Given the description of an element on the screen output the (x, y) to click on. 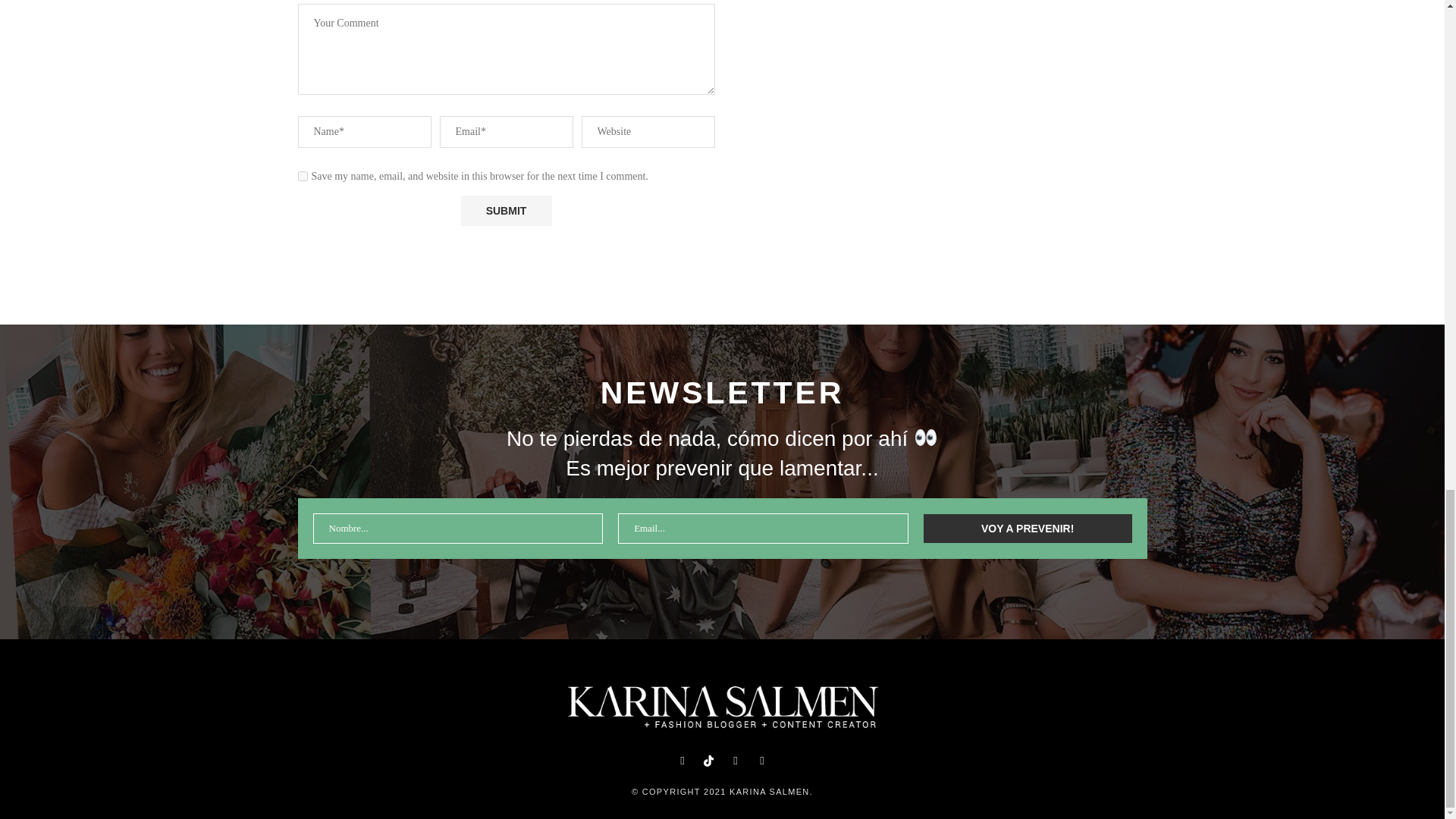
Submit (506, 210)
Voy a prevenir! (1027, 528)
yes (302, 175)
